Given the description of an element on the screen output the (x, y) to click on. 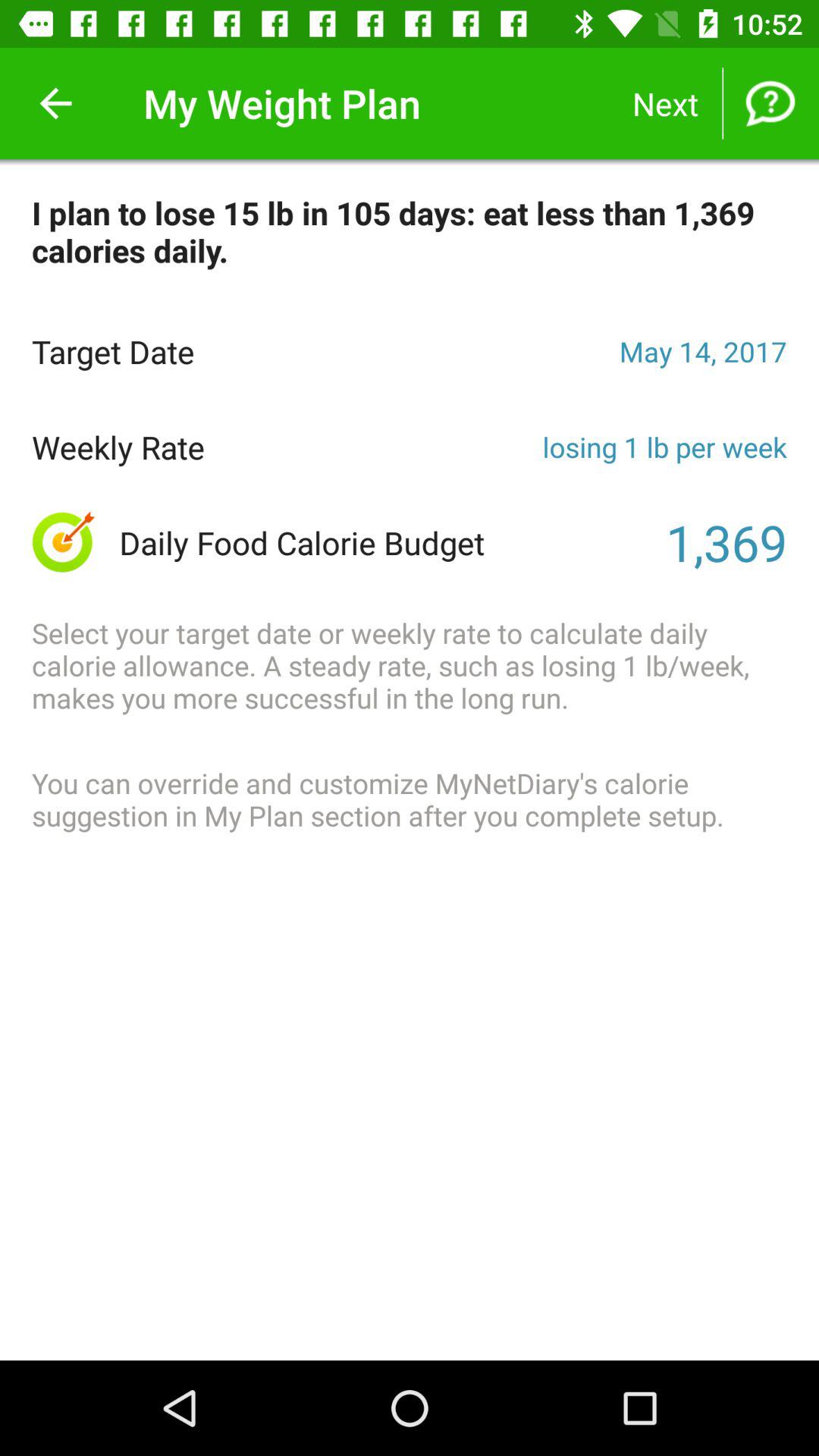
press the item next to the my weight plan (55, 103)
